Given the description of an element on the screen output the (x, y) to click on. 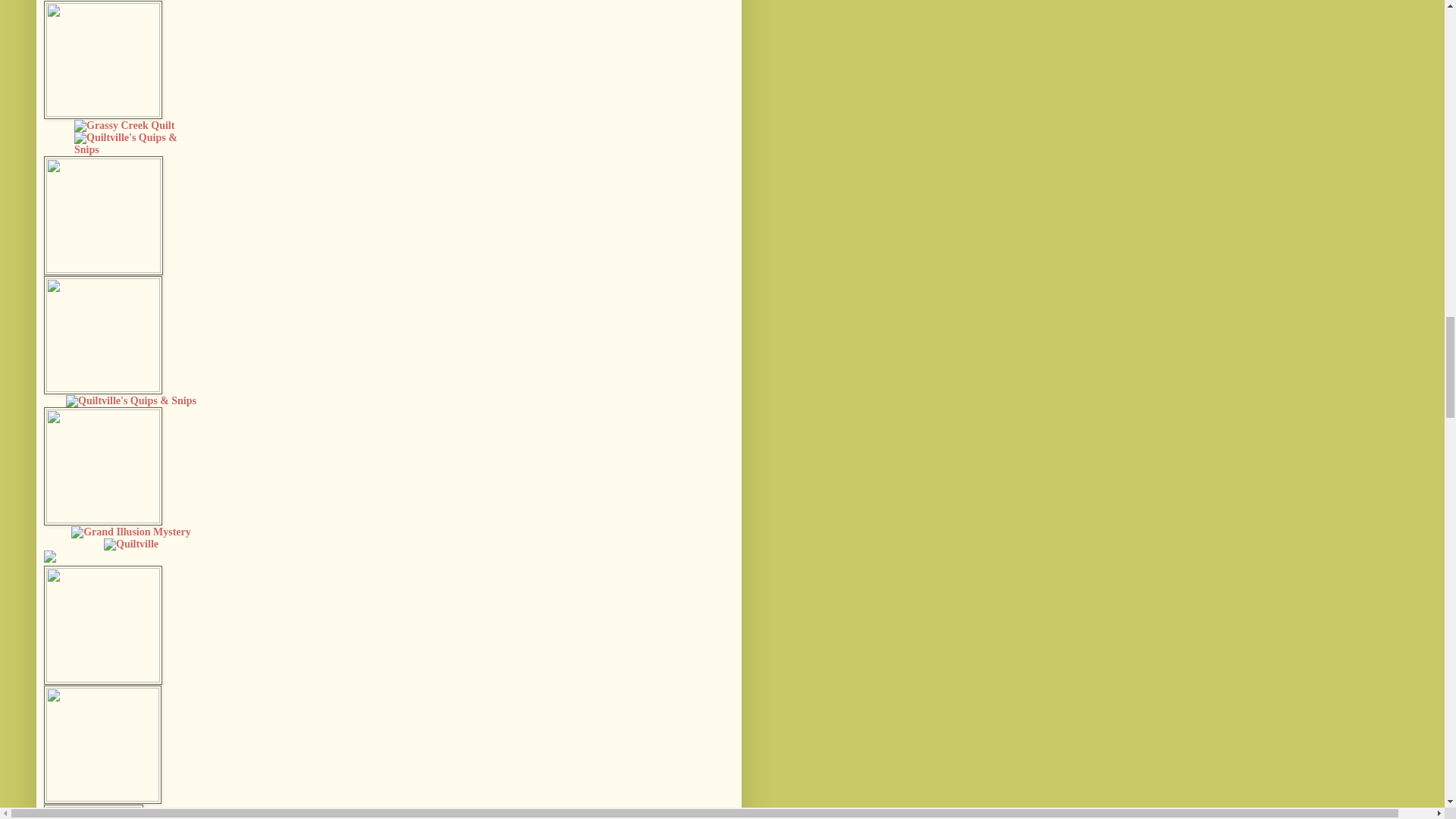
Grand Illusion Mystery (130, 531)
Quiltville (130, 543)
